Given the description of an element on the screen output the (x, y) to click on. 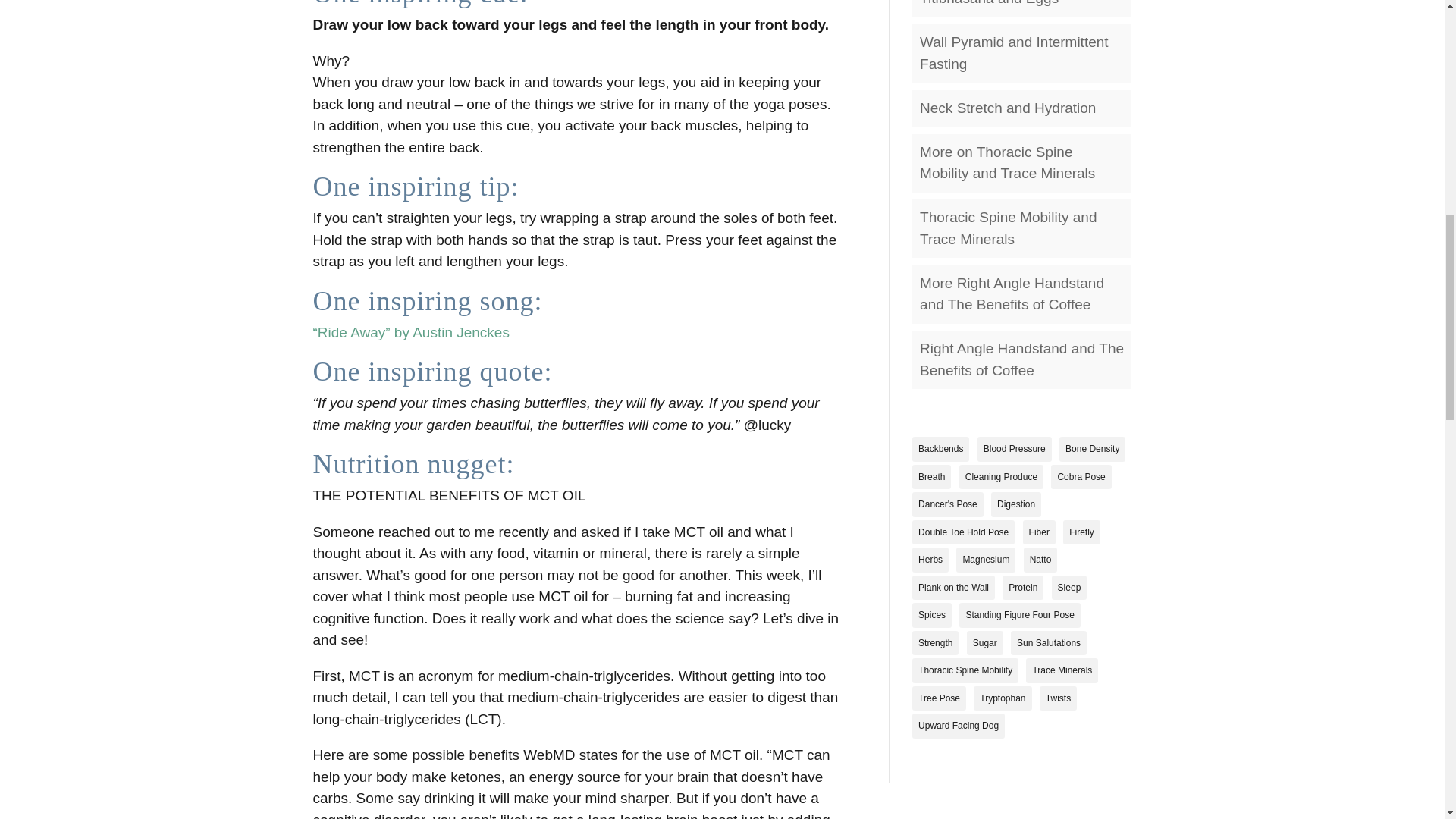
Blood Pressure (1013, 448)
Titibhasana and Eggs (989, 2)
Bone Density (1092, 448)
Firefly (1081, 532)
Backbends (940, 448)
Cobra Pose (1080, 477)
Double Toe Hold Pose (963, 532)
Cleaning Produce (1001, 477)
More Right Angle Handstand and The Benefits of Coffee (1011, 293)
Breath (931, 477)
Magnesium (985, 559)
Neck Stretch and Hydration (1008, 107)
Wall Pyramid and Intermittent Fasting (1014, 53)
Protein (1023, 587)
Thoracic Spine Mobility and Trace Minerals (1008, 228)
